Given the description of an element on the screen output the (x, y) to click on. 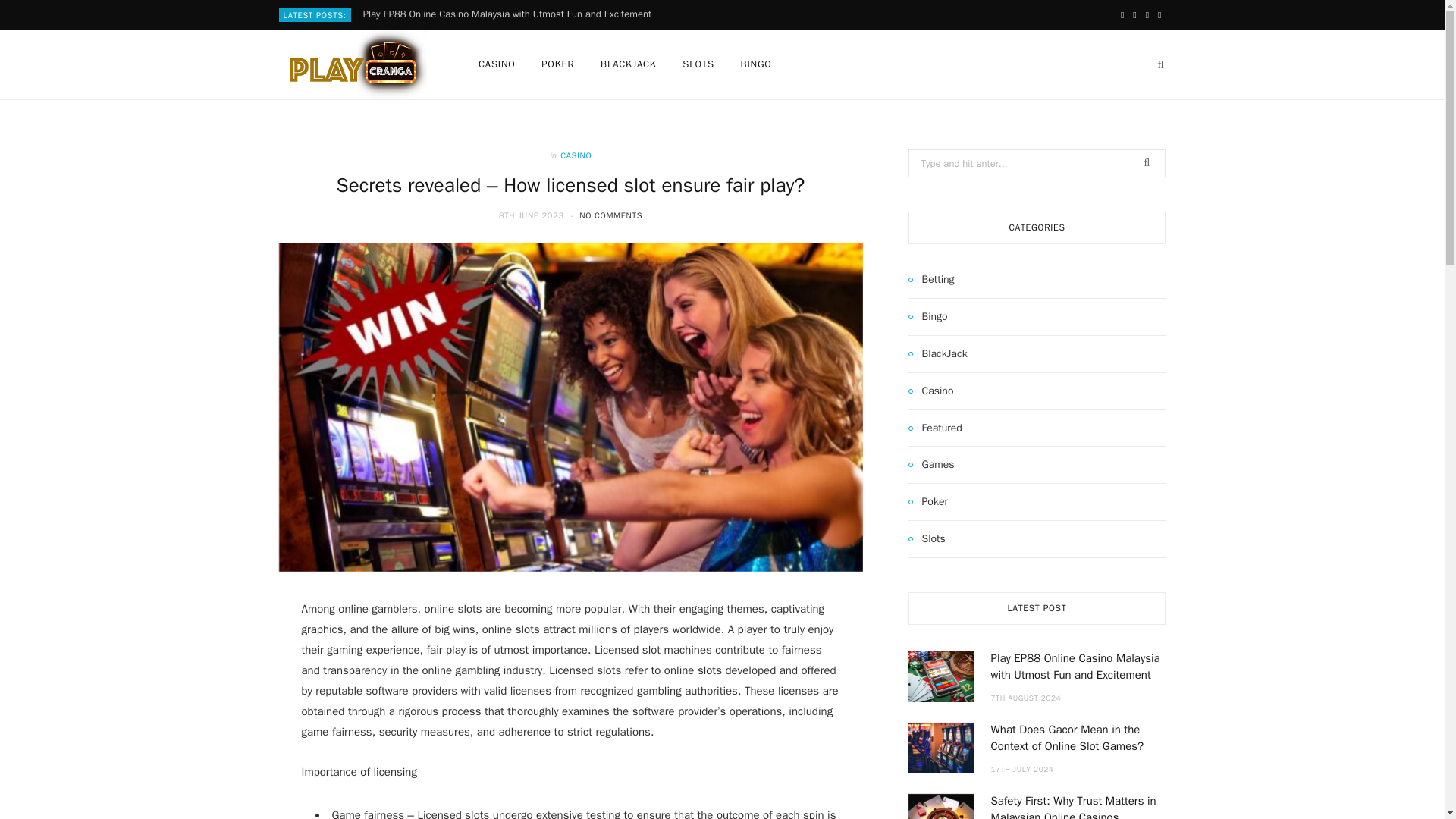
8TH JUNE 2023 (533, 214)
Betting (931, 280)
NO COMMENTS (610, 214)
Featured (935, 428)
Bingo (927, 316)
Casino (930, 391)
playcranga (354, 64)
BLACKJACK (628, 64)
